Given the description of an element on the screen output the (x, y) to click on. 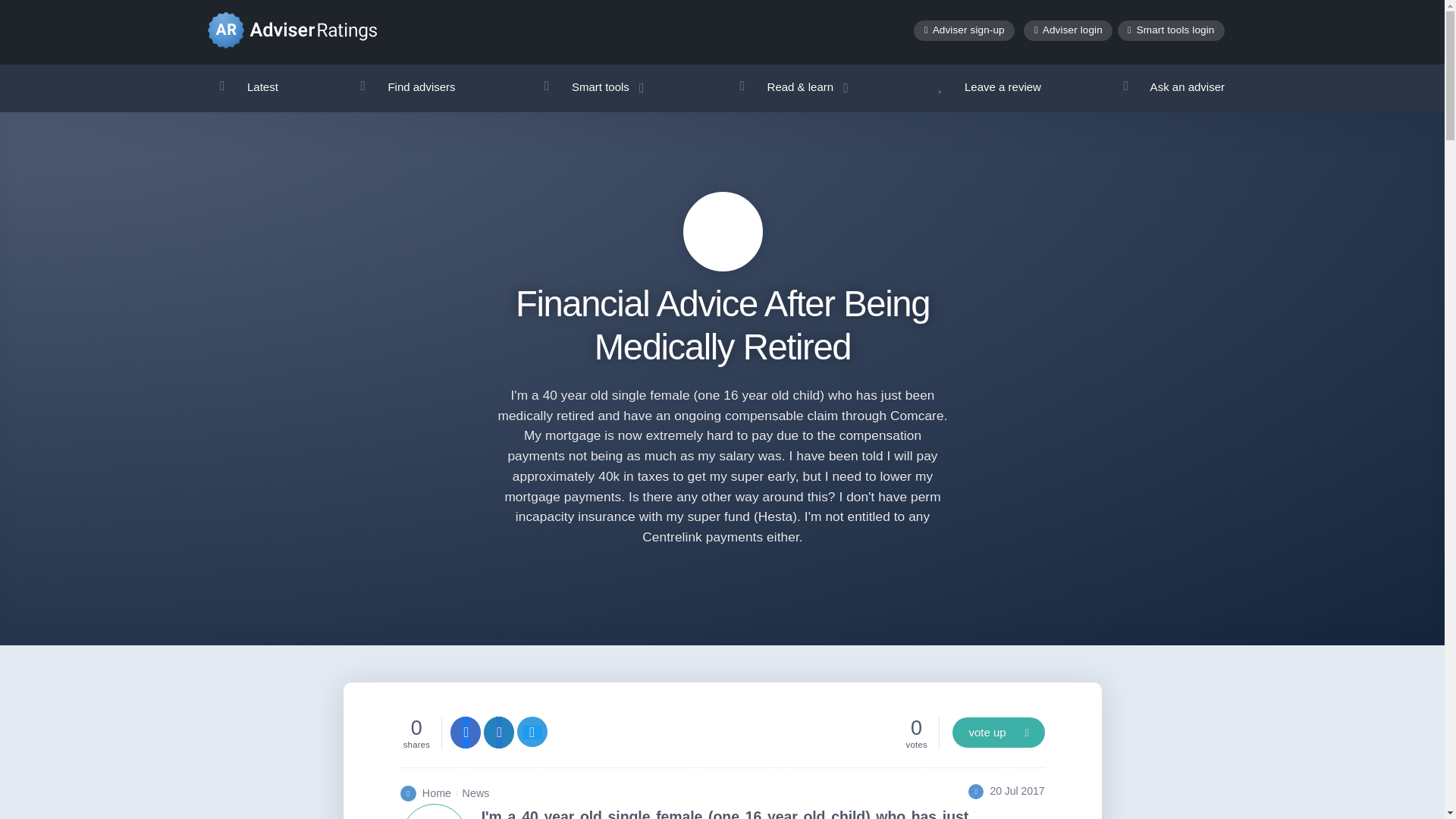
News (476, 793)
Smart tools login (1171, 29)
Ask an adviser (1173, 86)
Leave a review (989, 86)
Adviser login (1067, 29)
Home (436, 793)
Latest (248, 86)
Adviser sign-up (964, 29)
Find advisers (406, 86)
